Given the description of an element on the screen output the (x, y) to click on. 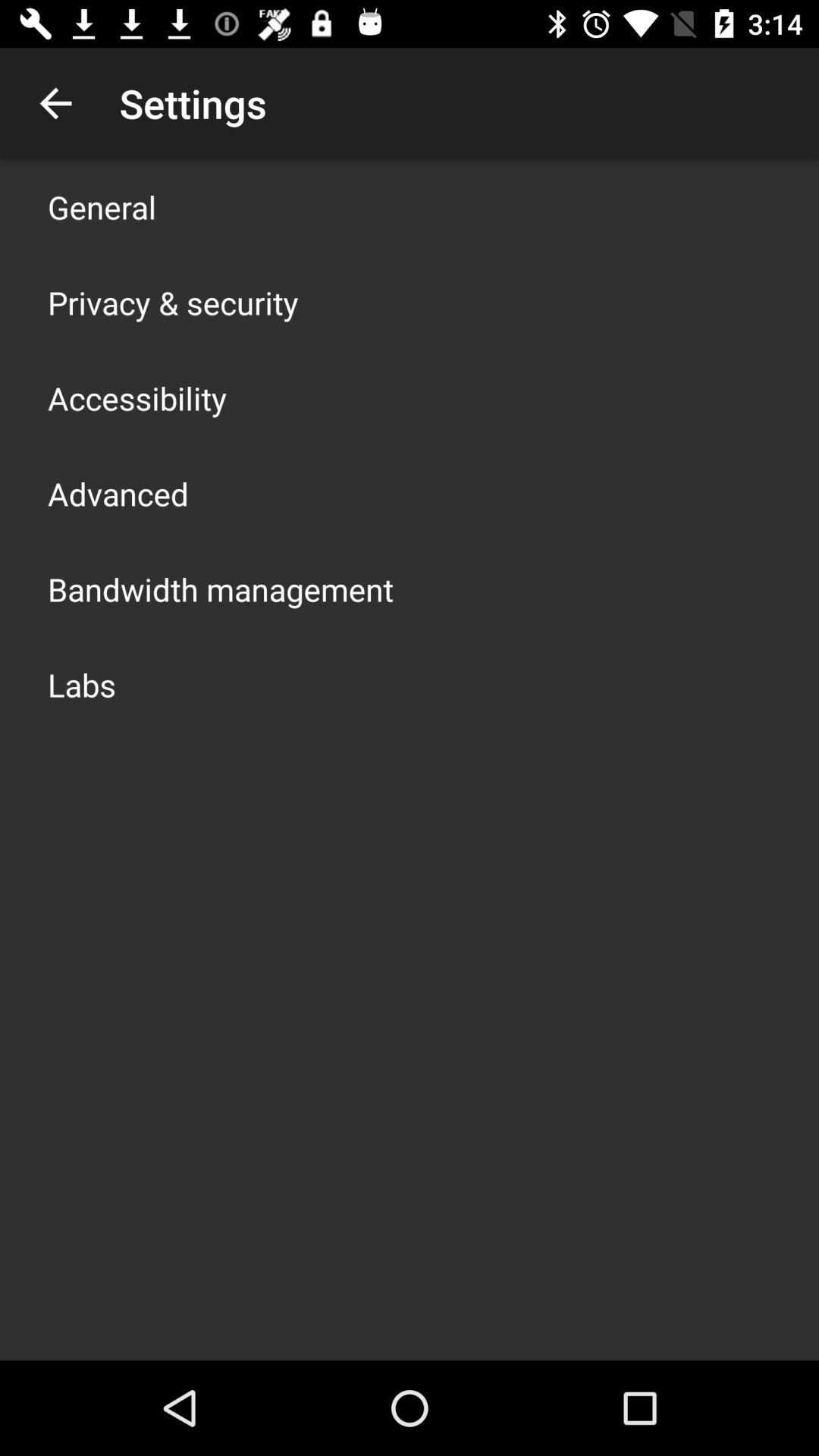
swipe until privacy & security icon (172, 302)
